Given the description of an element on the screen output the (x, y) to click on. 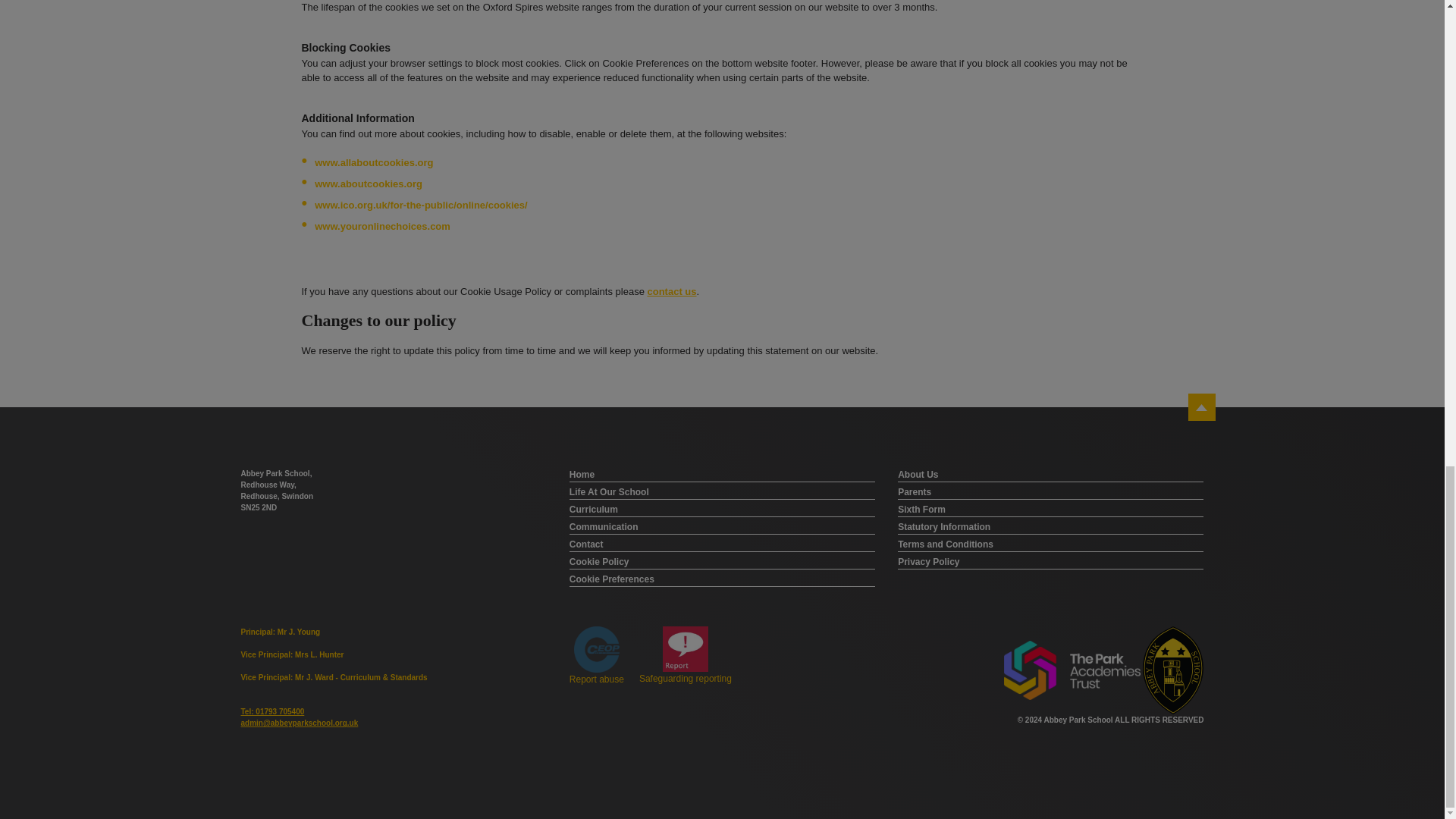
Contact Us (670, 293)
